Given the description of an element on the screen output the (x, y) to click on. 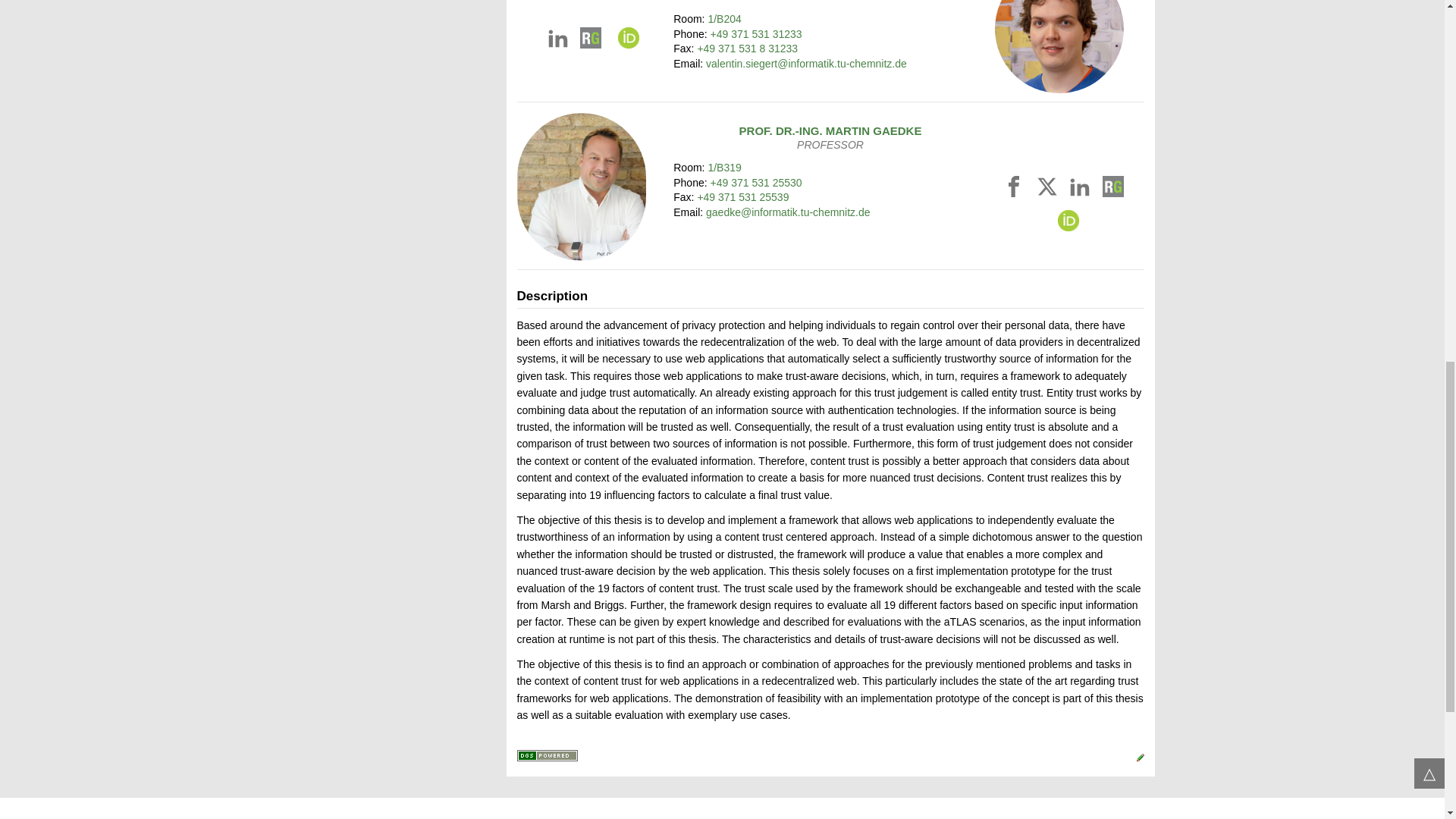
send a fax (747, 48)
LinkedIn Valentin Siegert (560, 41)
LinkedIn Martin Gaedke (1081, 189)
send an email (806, 63)
Facebook Martin Gaedke (1016, 189)
ResearchGate Valentin Siegert (590, 41)
send a fax (743, 196)
Orcidid Valentin Siegert (623, 41)
Twitter Martin Gaedke (1049, 189)
send an email (788, 212)
